Given the description of an element on the screen output the (x, y) to click on. 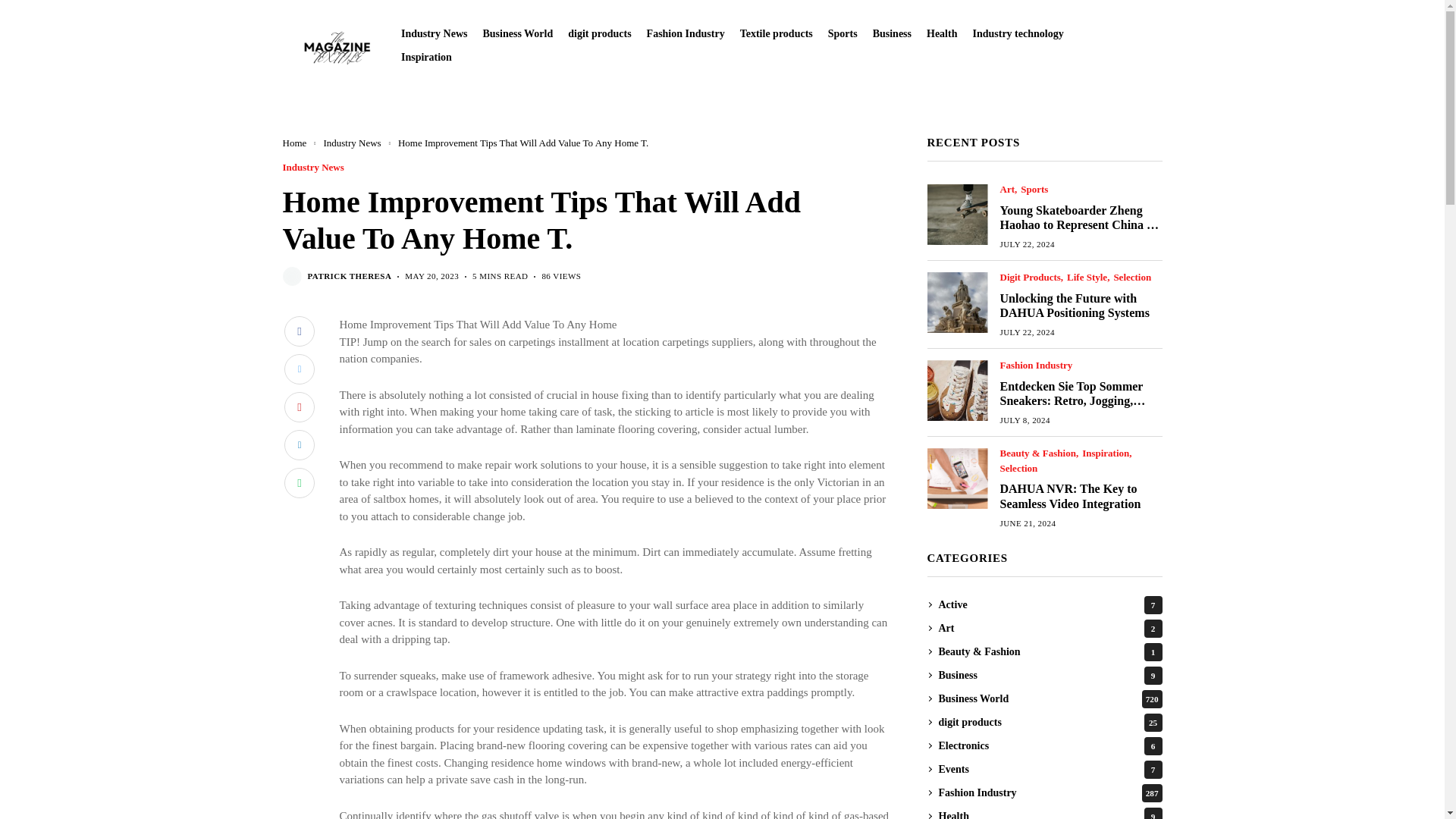
Industry technology (1017, 33)
Fashion Industry (685, 33)
Textile products (775, 33)
digit products (598, 33)
Industry News (434, 33)
Posts by Patrick Theresa (349, 276)
Business World (517, 33)
Unlocking the Future with DAHUA Positioning Systems (956, 301)
Inspiration (426, 57)
DAHUA NVR: The Key to Seamless Video Integration (956, 477)
